Given the description of an element on the screen output the (x, y) to click on. 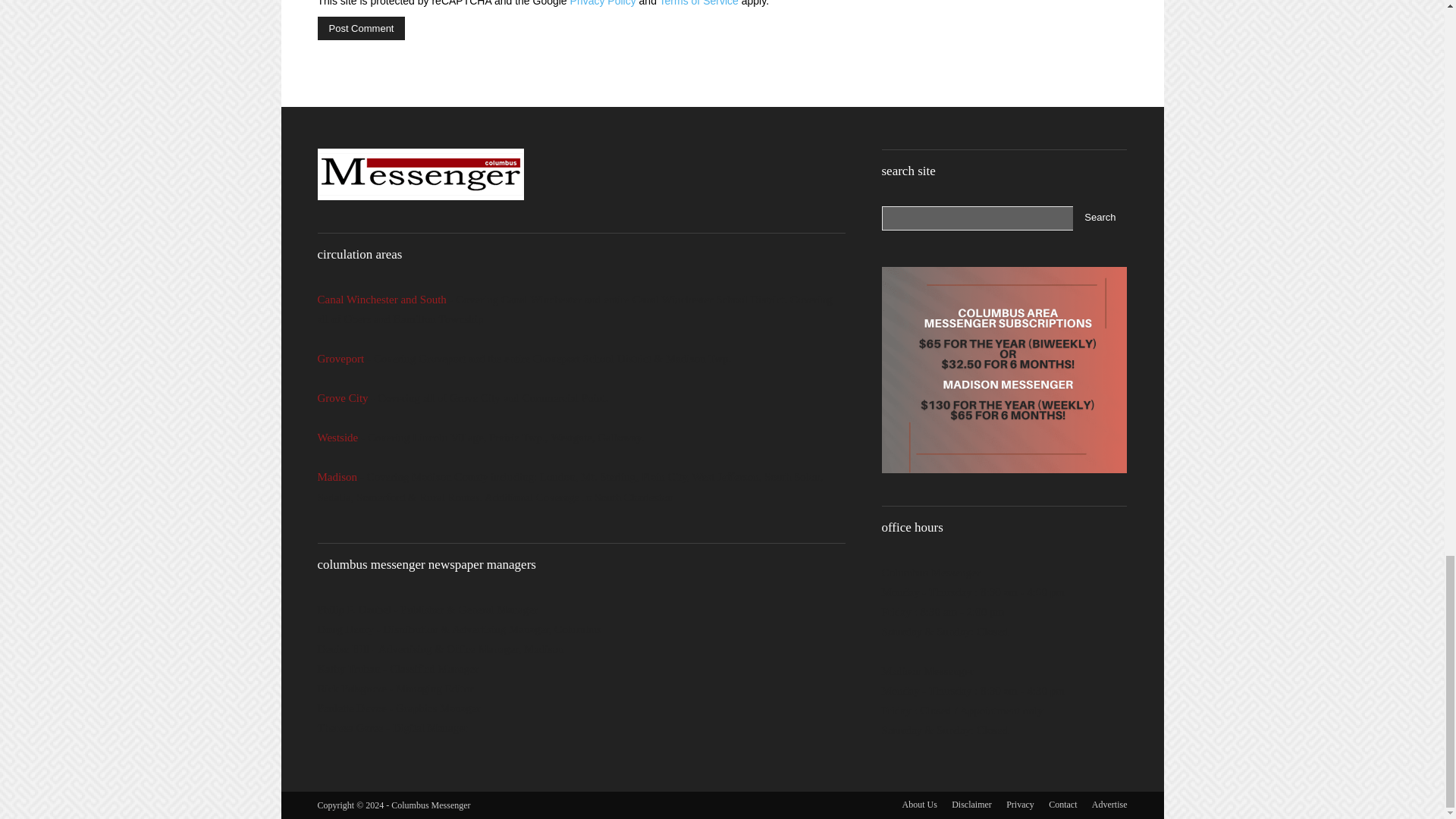
Search (1099, 218)
Post Comment (360, 28)
